Given the description of an element on the screen output the (x, y) to click on. 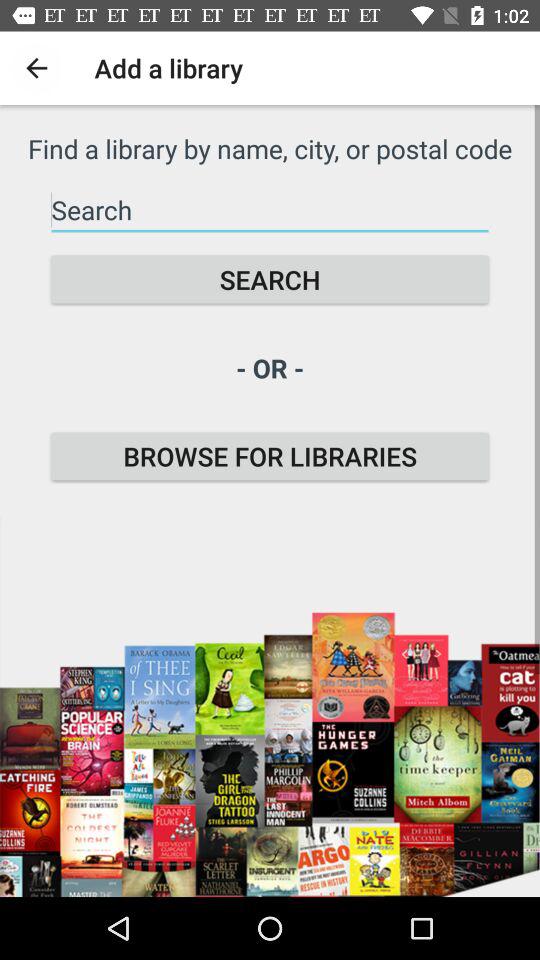
scroll to search (269, 279)
